Given the description of an element on the screen output the (x, y) to click on. 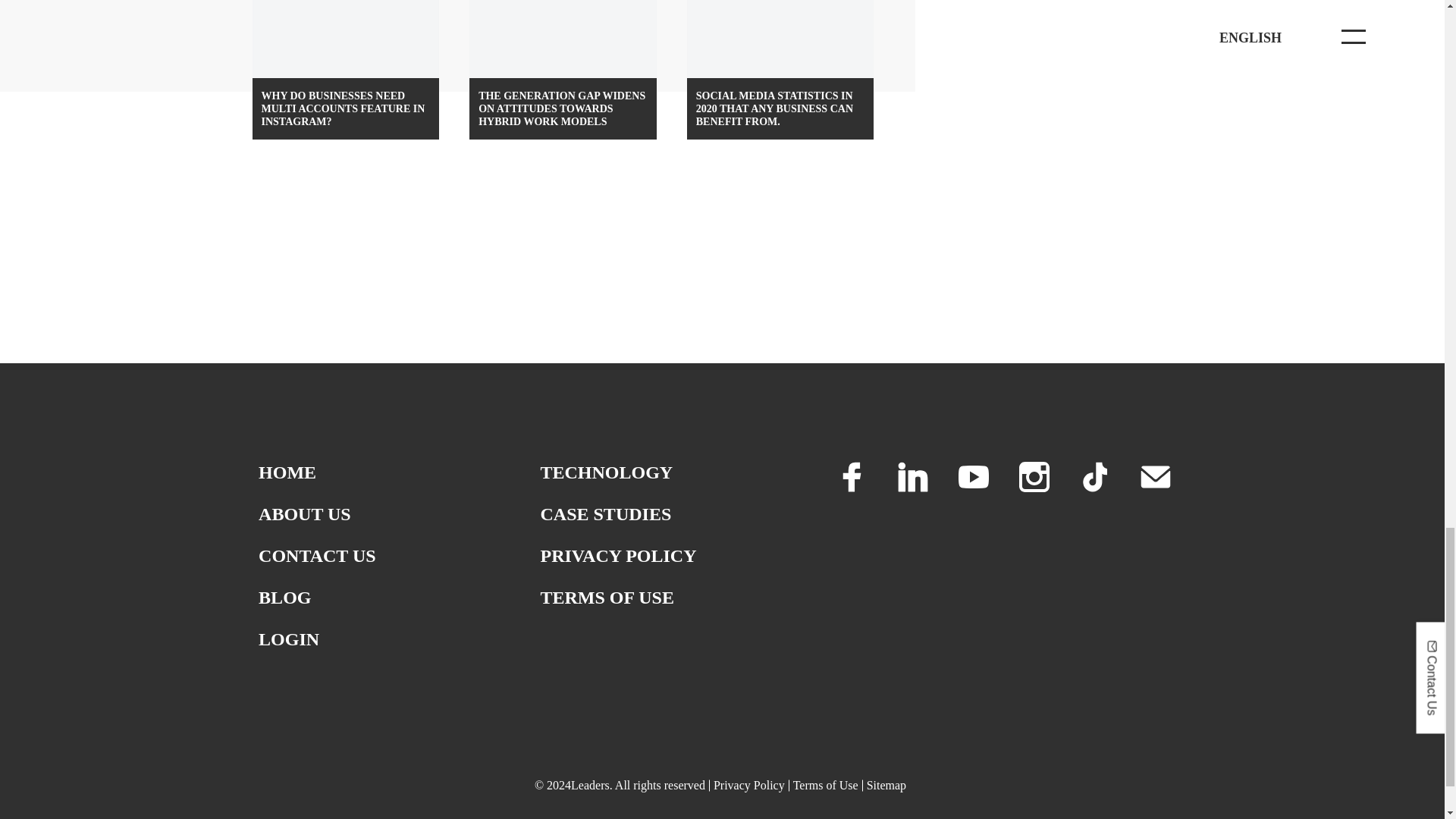
BLOG (285, 597)
HOME (287, 472)
ABOUT US (304, 514)
CONTACT US (317, 555)
WHY DO BUSINESSES NEED MULTI ACCOUNTS FEATURE IN INSTAGRAM? (345, 69)
CASE STUDIES (605, 514)
TECHNOLOGY (606, 472)
LOGIN (288, 639)
